Given the description of an element on the screen output the (x, y) to click on. 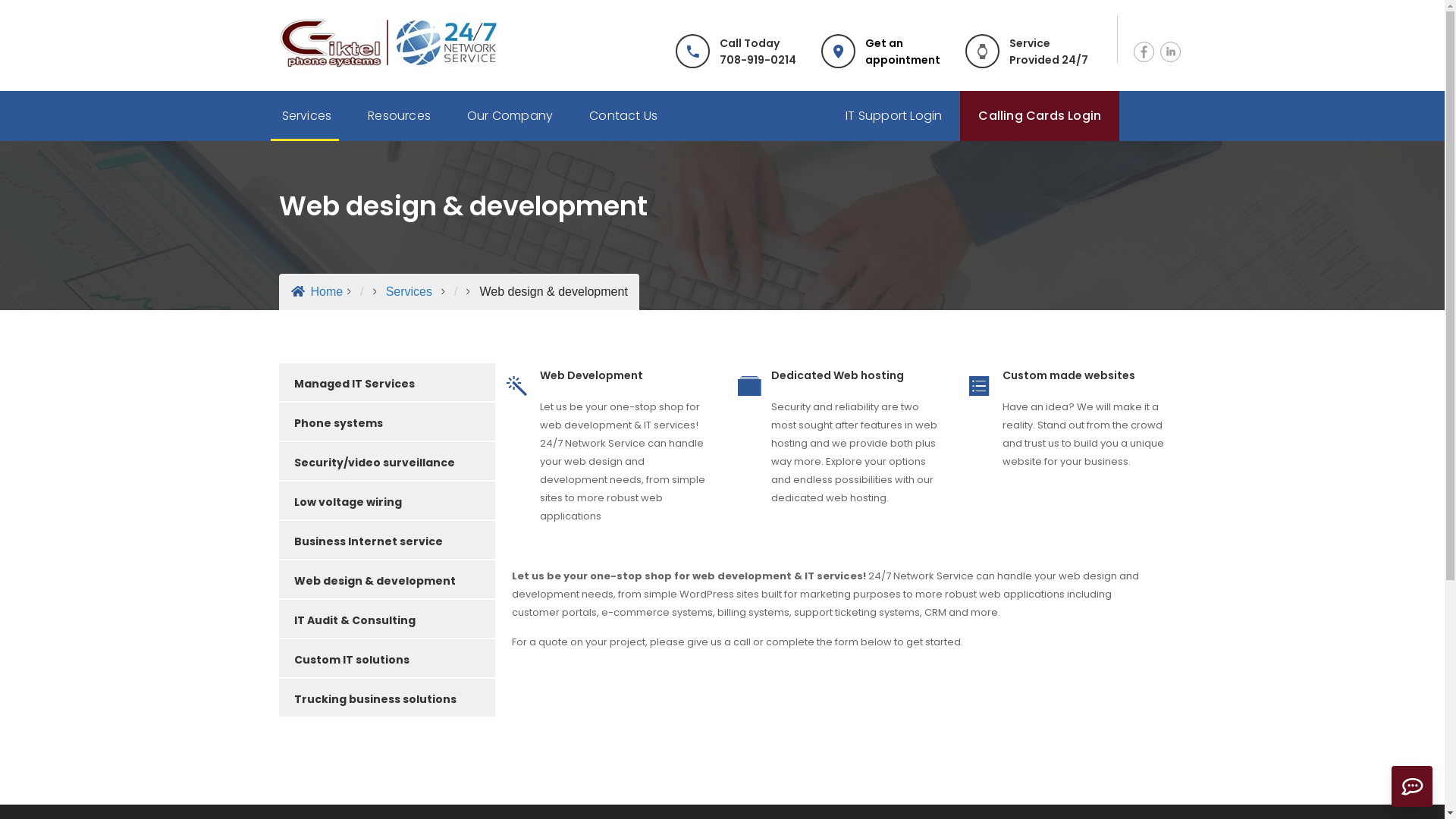
Services Element type: text (408, 291)
IT Support Login Element type: text (893, 116)
IT Audit & Consulting Element type: text (387, 618)
Calling Cards Login Element type: text (1039, 116)
Home Element type: text (317, 291)
Low voltage wiring Element type: text (387, 500)
Phone systems Element type: text (387, 421)
Web design & development Element type: text (387, 579)
Get an
appointment Element type: text (902, 50)
Managed IT Services Element type: text (387, 382)
Business Internet service Element type: text (387, 539)
Resources Element type: text (398, 116)
Trucking business solutions Element type: text (387, 697)
Our Company Element type: text (509, 116)
708-919-0214 Element type: text (757, 58)
Services Element type: text (306, 116)
Security/video surveillance Element type: text (387, 461)
Contact Us Element type: text (623, 116)
Custom IT solutions Element type: text (387, 658)
